Given the description of an element on the screen output the (x, y) to click on. 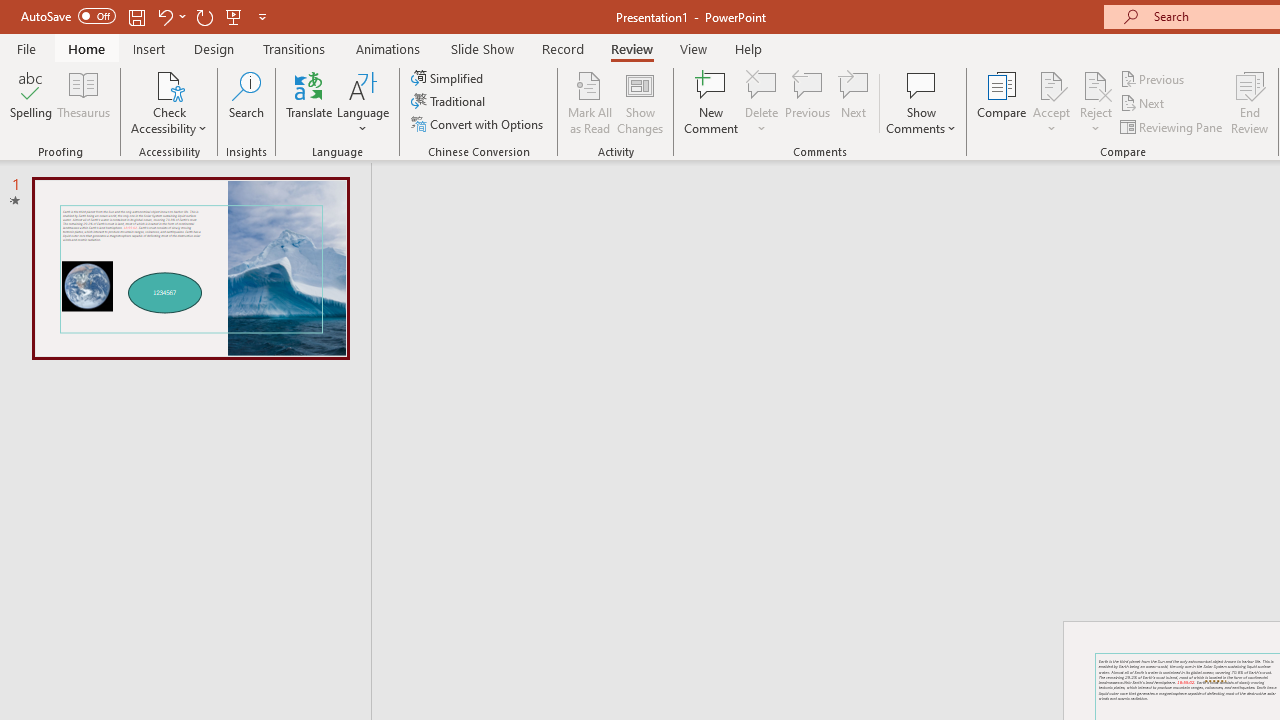
Reject Change (1096, 84)
Previous (1153, 78)
Delete (762, 102)
Check Accessibility (169, 84)
Show Comments (921, 84)
End Review (1249, 102)
Next (1144, 103)
Compare (1002, 102)
